Given the description of an element on the screen output the (x, y) to click on. 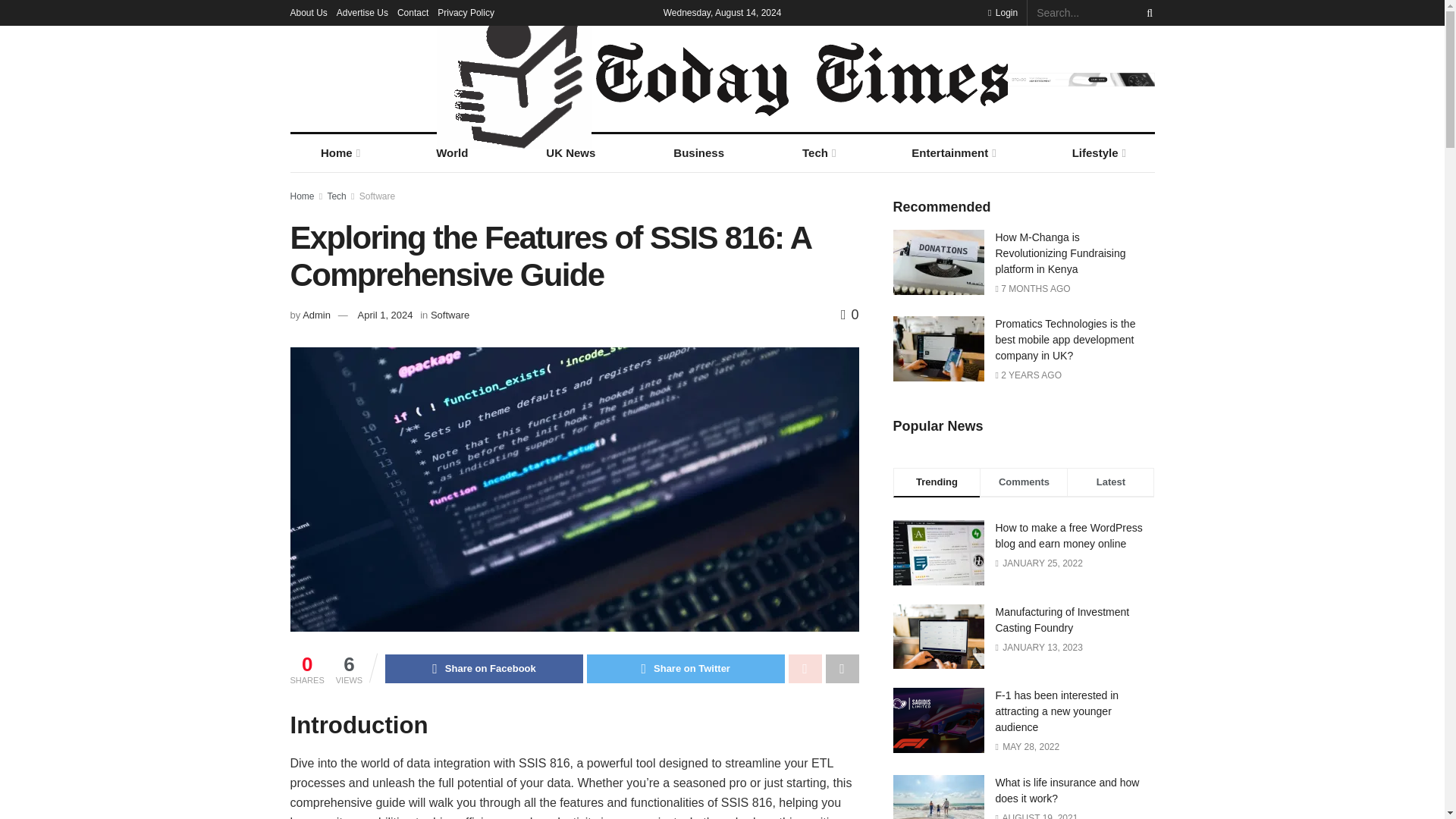
Home (338, 152)
Entertainment (952, 152)
Contact (412, 12)
Advertise Us (362, 12)
Tech (817, 152)
Privacy Policy (466, 12)
Login (1002, 12)
Business (699, 152)
About Us (307, 12)
World (452, 152)
